Given the description of an element on the screen output the (x, y) to click on. 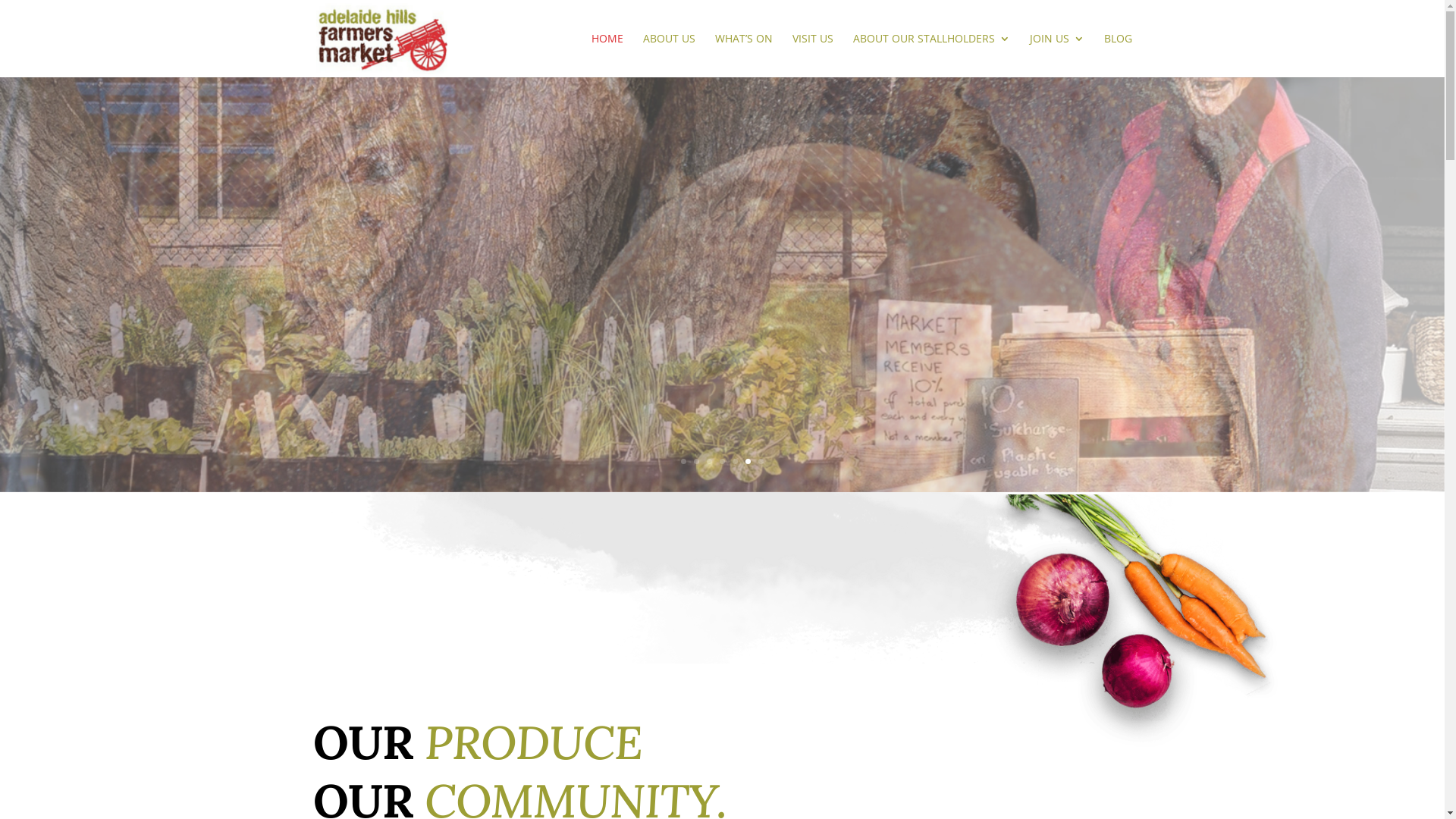
HOME Element type: text (607, 55)
1 Element type: text (683, 461)
JOIN US Element type: text (1056, 55)
2 Element type: text (696, 461)
6 Element type: text (747, 461)
BLOG Element type: text (1118, 55)
ABOUT US Element type: text (669, 55)
VISIT US Element type: text (811, 55)
5 Element type: text (734, 461)
3 Element type: text (709, 461)
ABOUT OUR STALLHOLDERS Element type: text (930, 55)
7 Element type: text (760, 461)
4 Element type: text (721, 461)
